Given the description of an element on the screen output the (x, y) to click on. 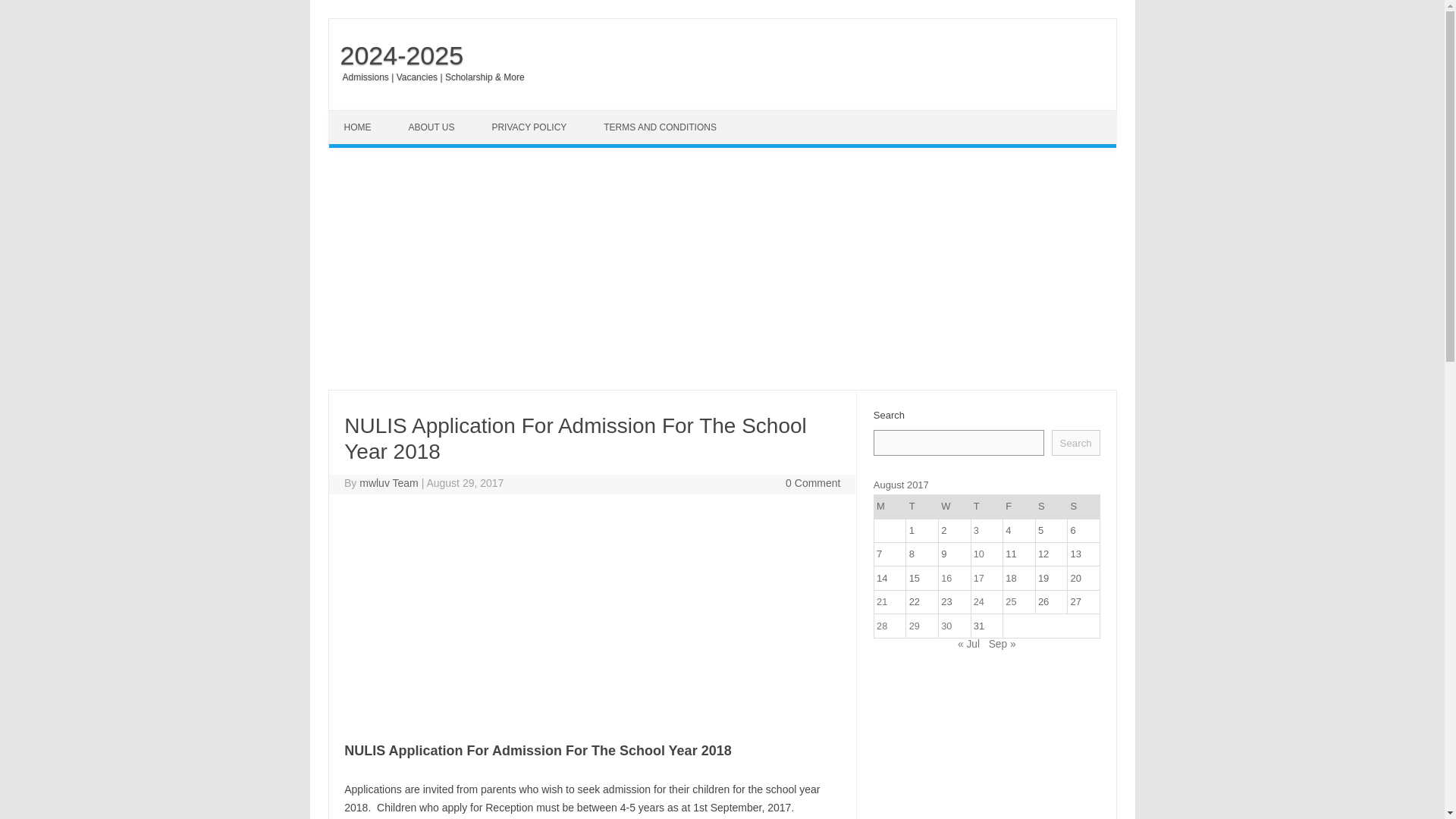
Sunday (1083, 506)
2024-2025 (396, 54)
Tuesday (922, 506)
2024-2025 (396, 54)
Advertisement (986, 742)
28 (881, 625)
Saturday (1051, 506)
TERMS AND CONDITIONS (661, 127)
PRIVACY POLICY (530, 127)
30 (946, 625)
